Given the description of an element on the screen output the (x, y) to click on. 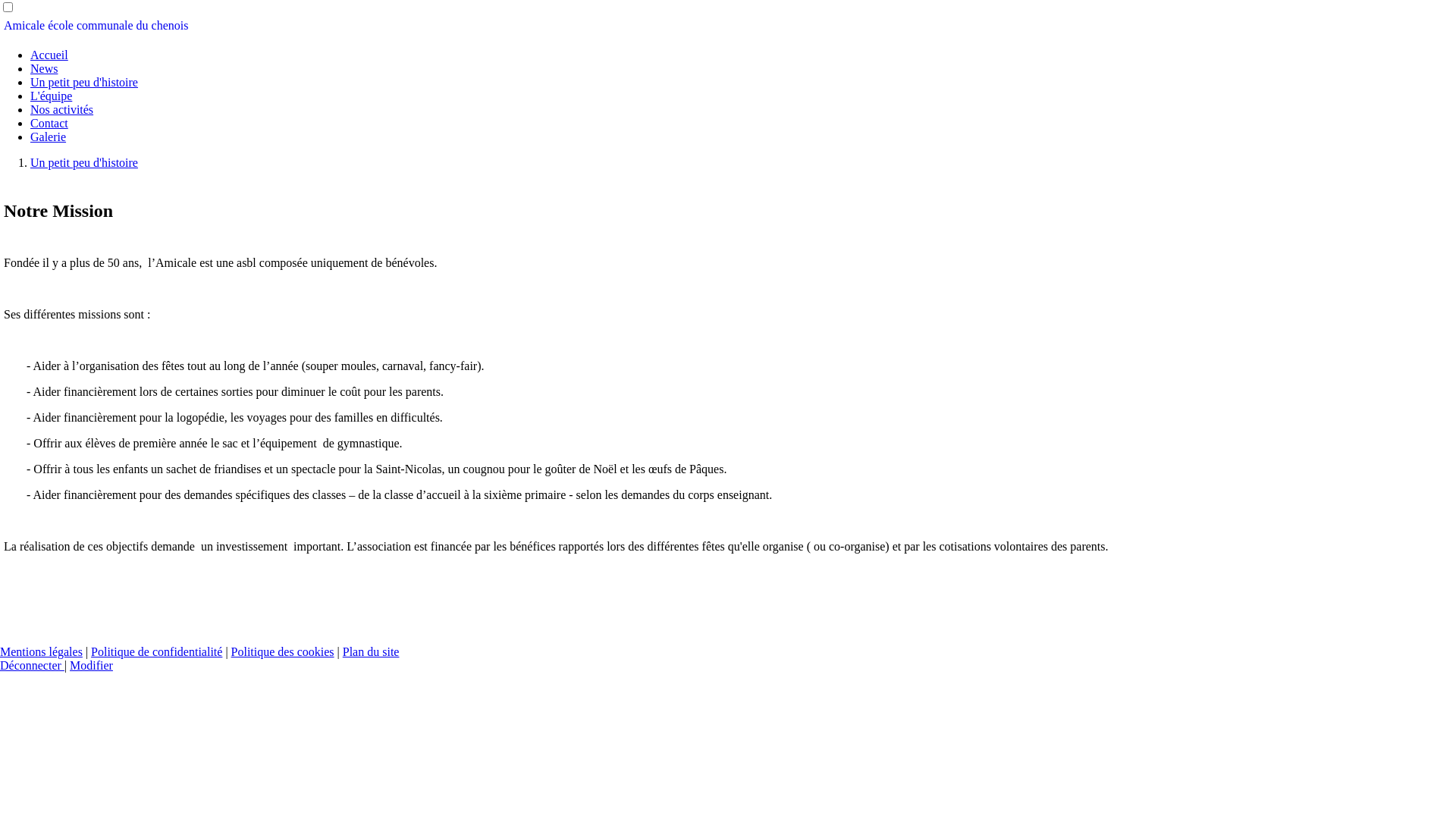
Galerie Element type: text (47, 136)
News Element type: text (43, 68)
Plan du site Element type: text (370, 651)
Un petit peu d'histoire Element type: text (84, 162)
Accueil Element type: text (49, 54)
Modifier Element type: text (90, 664)
Politique des cookies Element type: text (282, 651)
Contact Element type: text (49, 122)
Un petit peu d'histoire Element type: text (84, 81)
